Given the description of an element on the screen output the (x, y) to click on. 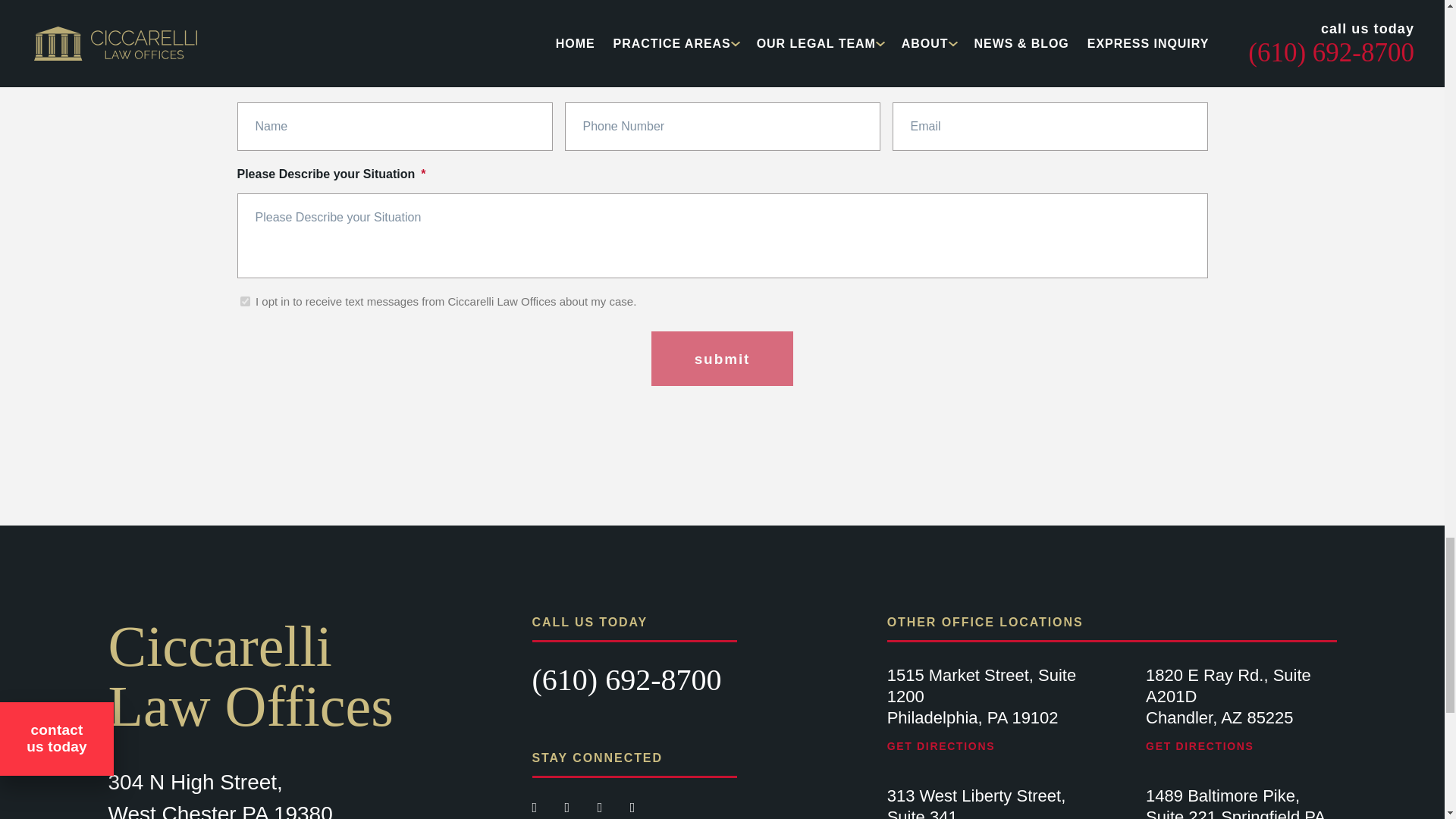
Call Toll Free (627, 679)
